Given the description of an element on the screen output the (x, y) to click on. 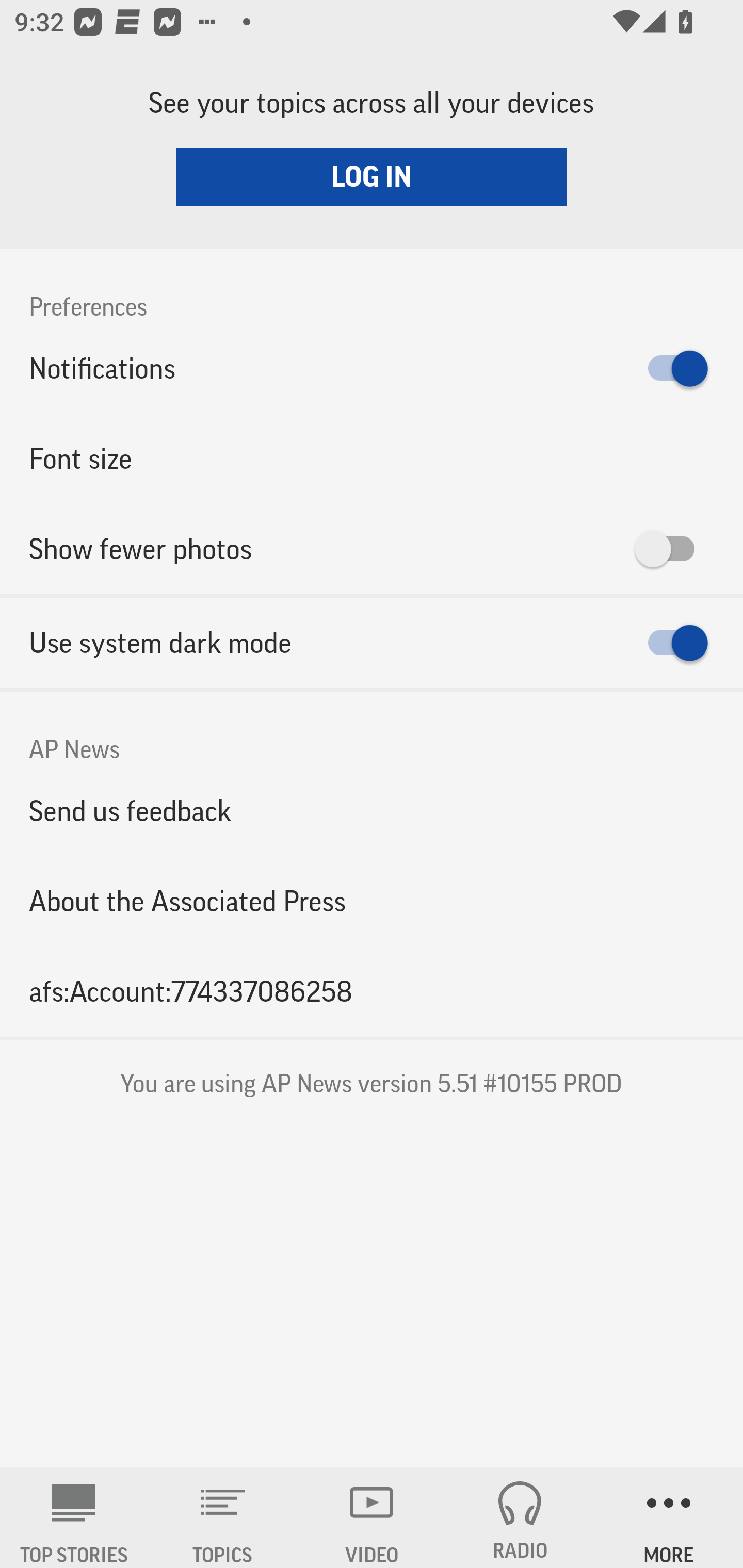
LOG IN (371, 176)
Notifications (371, 368)
Font size (371, 458)
Show fewer photos (371, 548)
Use system dark mode (371, 642)
Send us feedback (371, 810)
About the Associated Press (371, 901)
afs:Account:774337086258 (371, 991)
AP News TOP STORIES (74, 1517)
TOPICS (222, 1517)
VIDEO (371, 1517)
RADIO (519, 1517)
MORE (668, 1517)
